Given the description of an element on the screen output the (x, y) to click on. 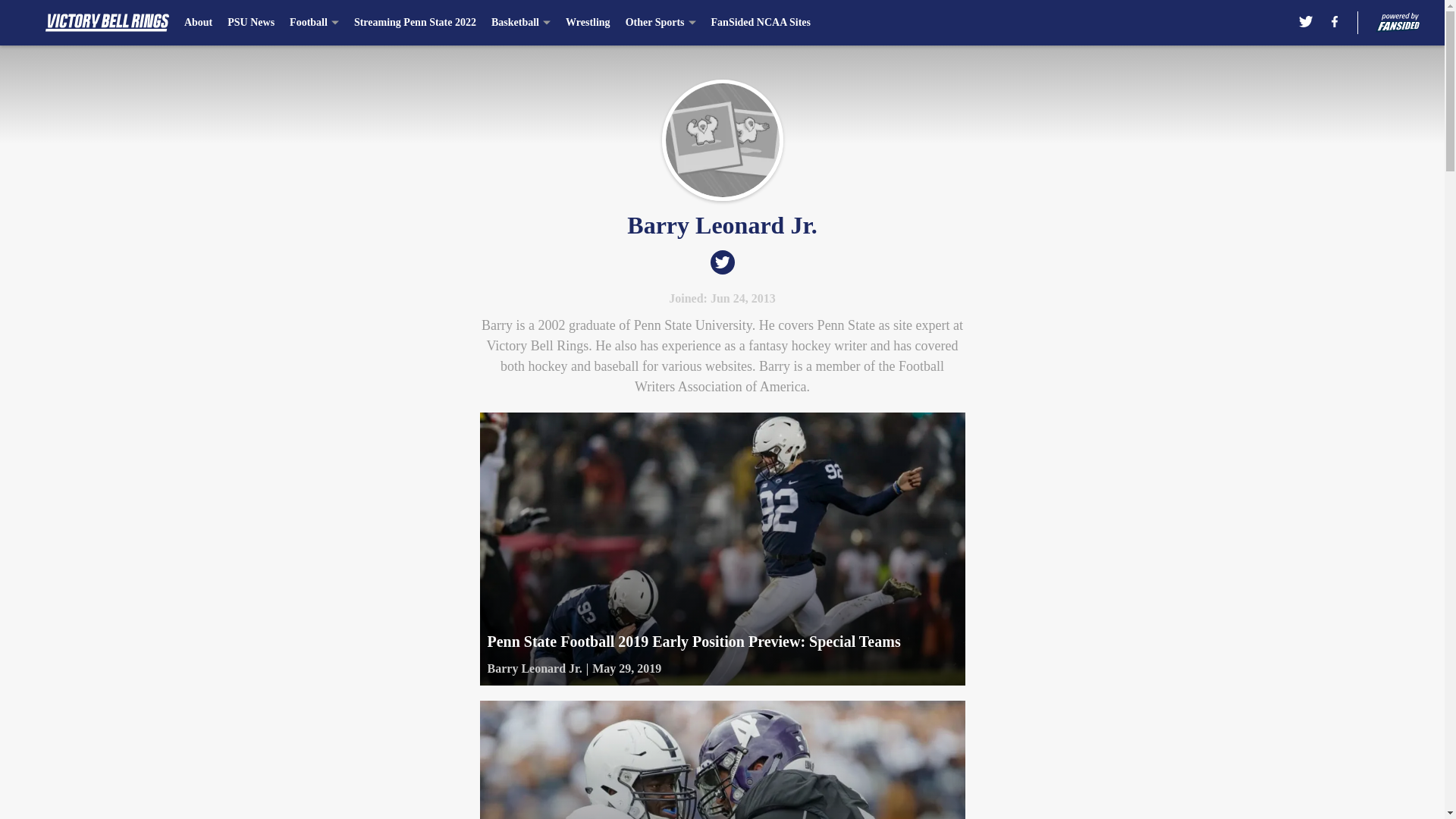
Wrestling (588, 22)
Barry Leonard Jr. (721, 140)
Streaming Penn State 2022 (414, 22)
Barry Leonard Jr. (533, 669)
Penn State Football: Shane Simmons needs a big 2019 season (721, 760)
About (198, 22)
PSU News (251, 22)
FanSided NCAA Sites (760, 22)
